Given the description of an element on the screen output the (x, y) to click on. 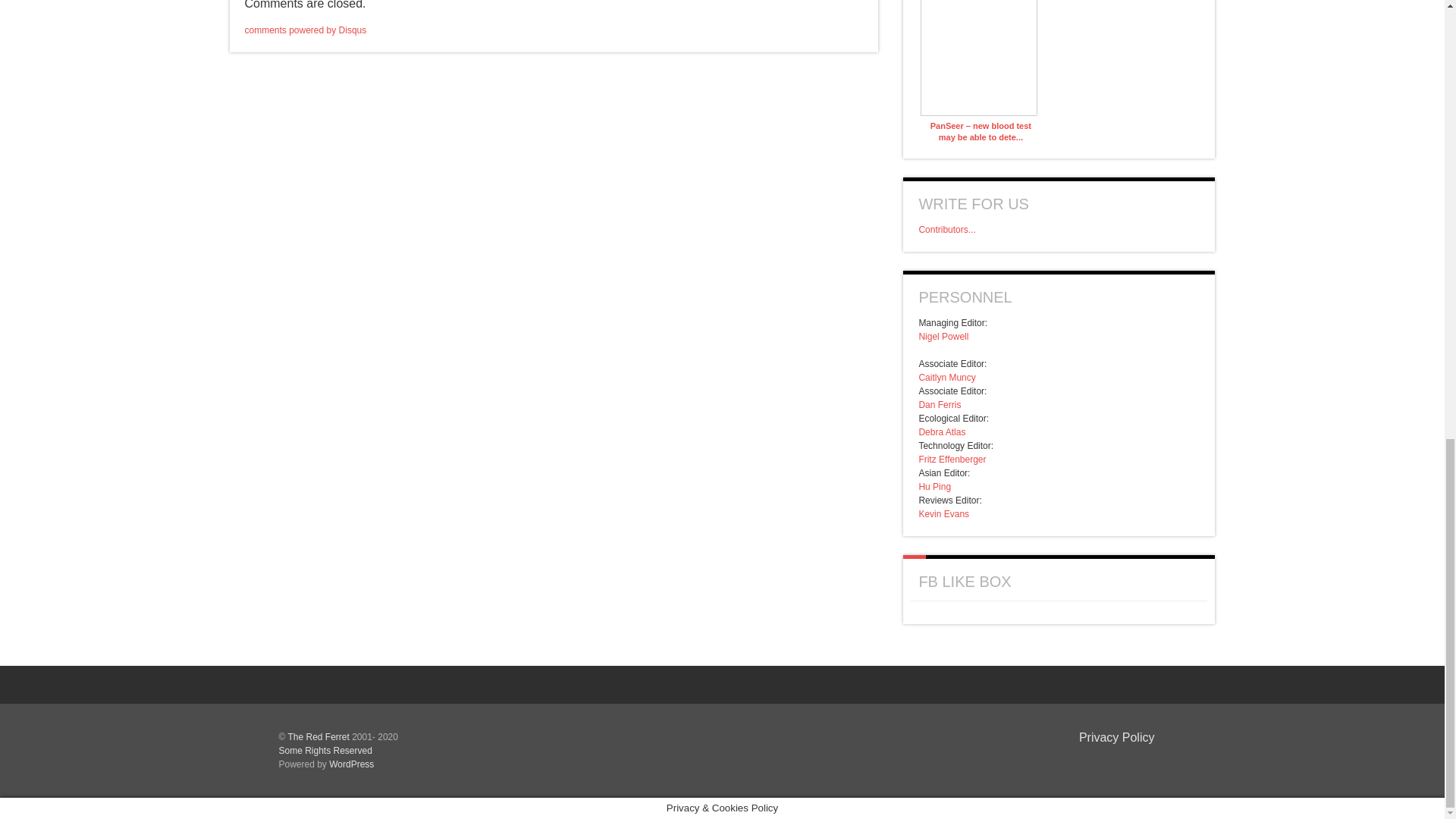
Kevin Evans (943, 513)
Contributors... (946, 229)
Built by Bairwell (1130, 761)
comments powered by Disqus (305, 30)
Caitlyn Muncy (946, 377)
Dan Ferris (939, 404)
Hu Ping (934, 486)
Nigel Powell (943, 336)
Fritz Effenberger (951, 459)
Debra Atlas (941, 431)
